Given the description of an element on the screen output the (x, y) to click on. 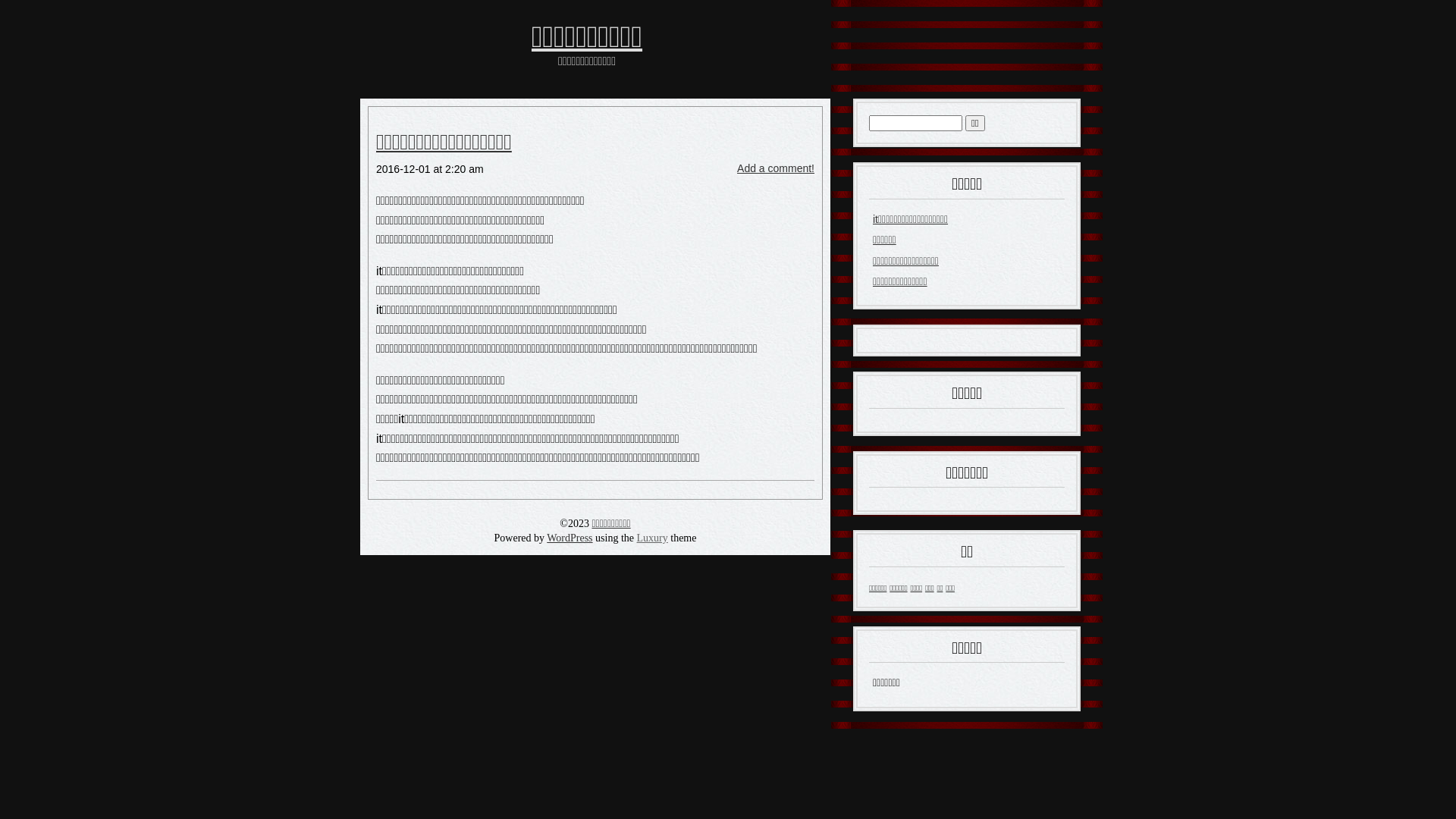
WordPress Element type: text (569, 537)
Luxury Element type: text (652, 537)
Add a comment! Element type: text (775, 168)
